Given the description of an element on the screen output the (x, y) to click on. 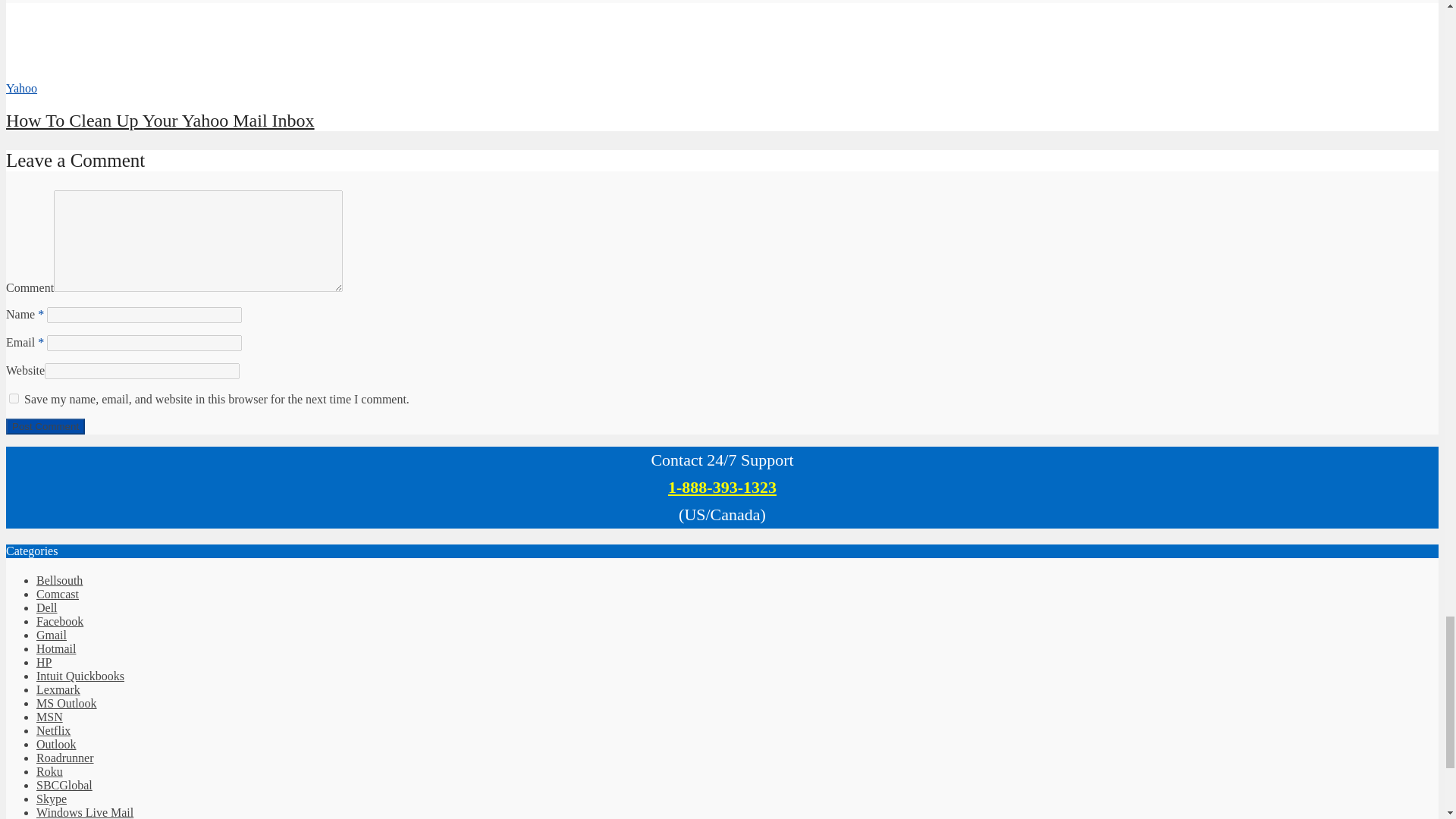
How To Clean Up Your Yahoo Mail Inbox (159, 120)
How To Clean Up Your Yahoo Mail Inbox (60, 74)
Post Comment (44, 426)
yes (13, 398)
